Given the description of an element on the screen output the (x, y) to click on. 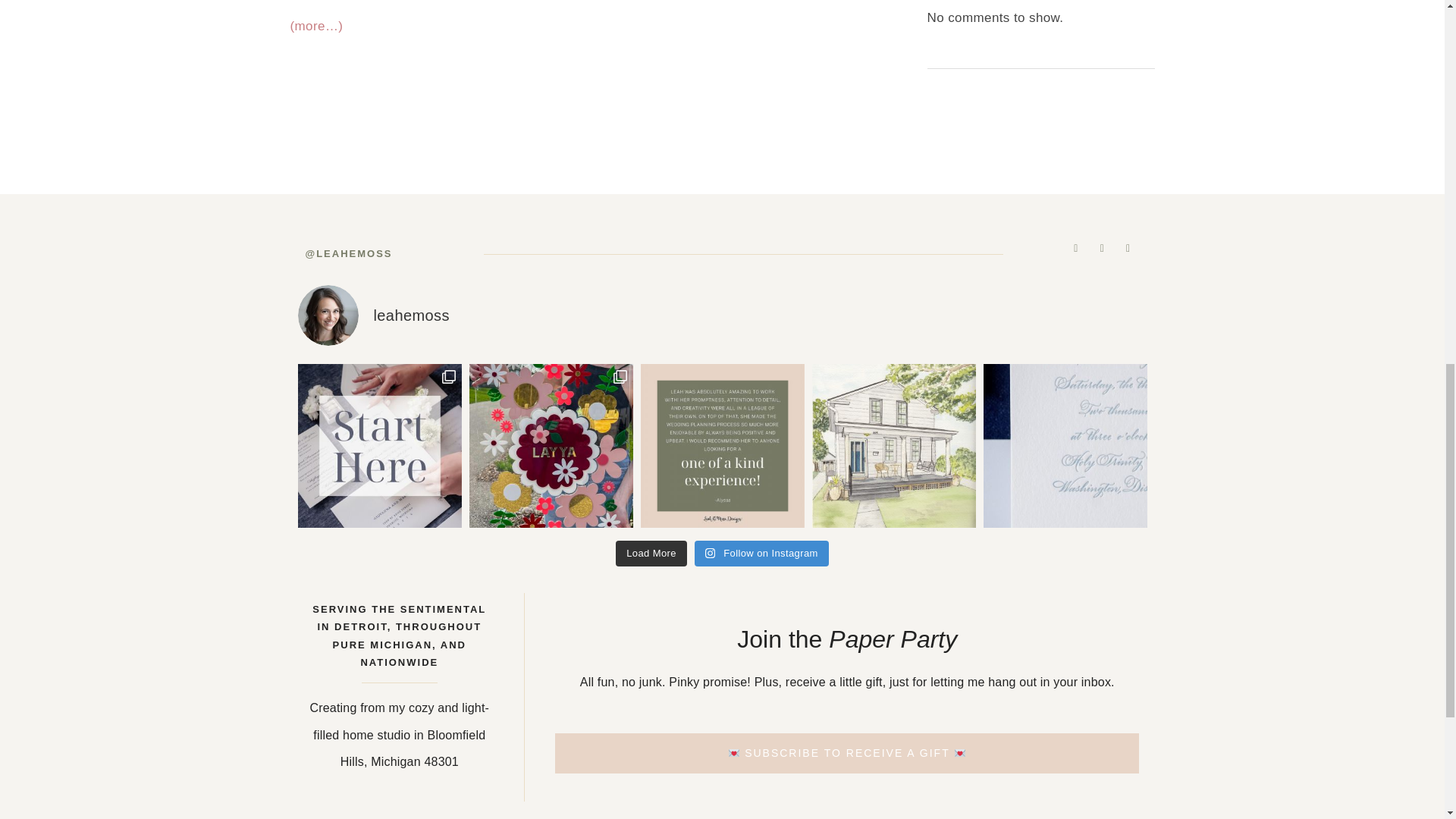
leahemoss (722, 315)
Load More (651, 553)
SUBSCRIBE TO RECEIVE A GIFT (846, 753)
Follow on Instagram (761, 553)
